Given the description of an element on the screen output the (x, y) to click on. 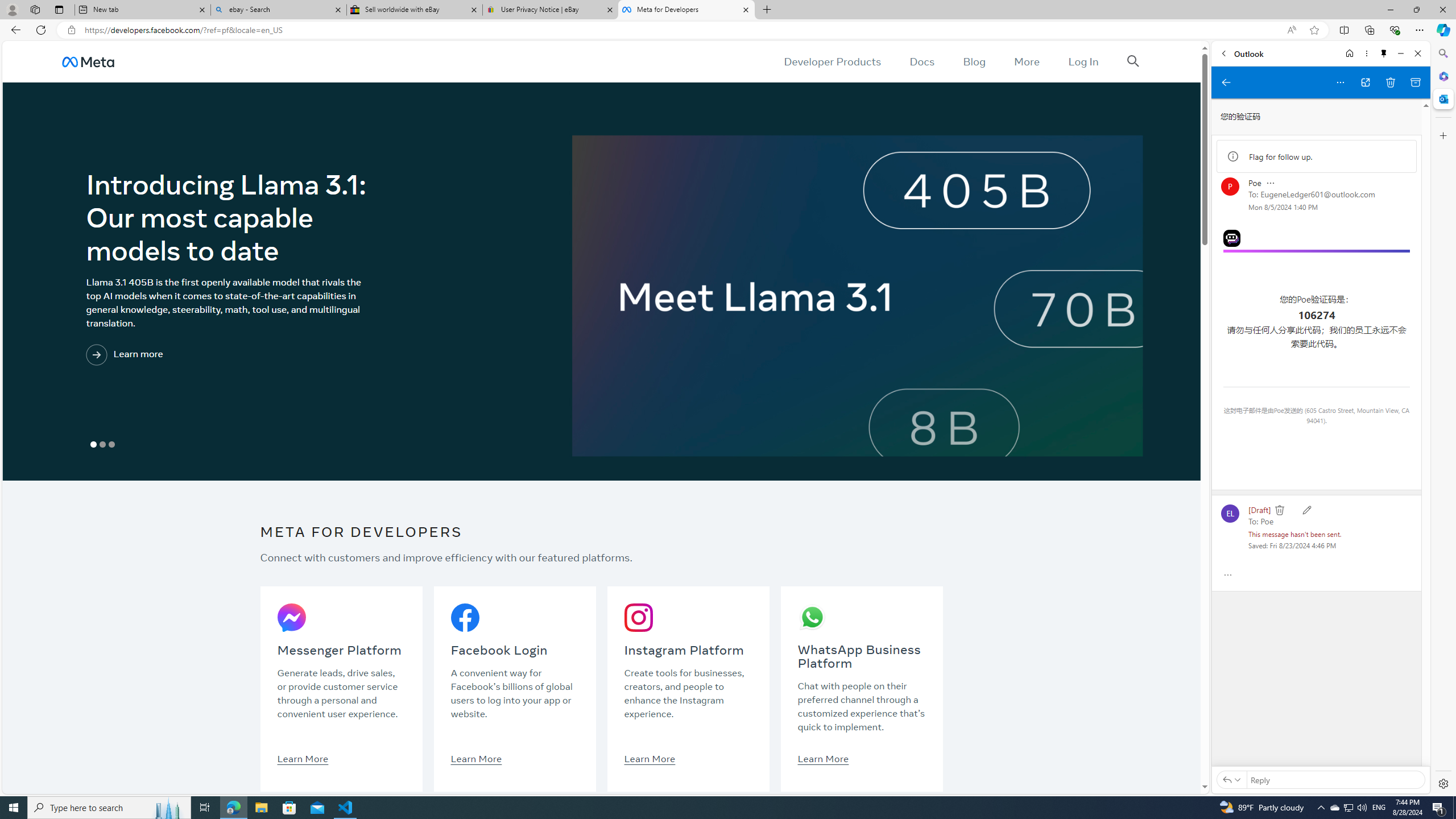
Poe (1267, 520)
Delete (1280, 509)
Poe (1316, 250)
More (1027, 61)
AutomationID: u_0_25_3H (88, 61)
Learn more (171, 355)
Open in new tab (1365, 82)
Log In (1083, 61)
Show Slide 2 (102, 444)
Blog (974, 61)
Docs (922, 61)
